Given the description of an element on the screen output the (x, y) to click on. 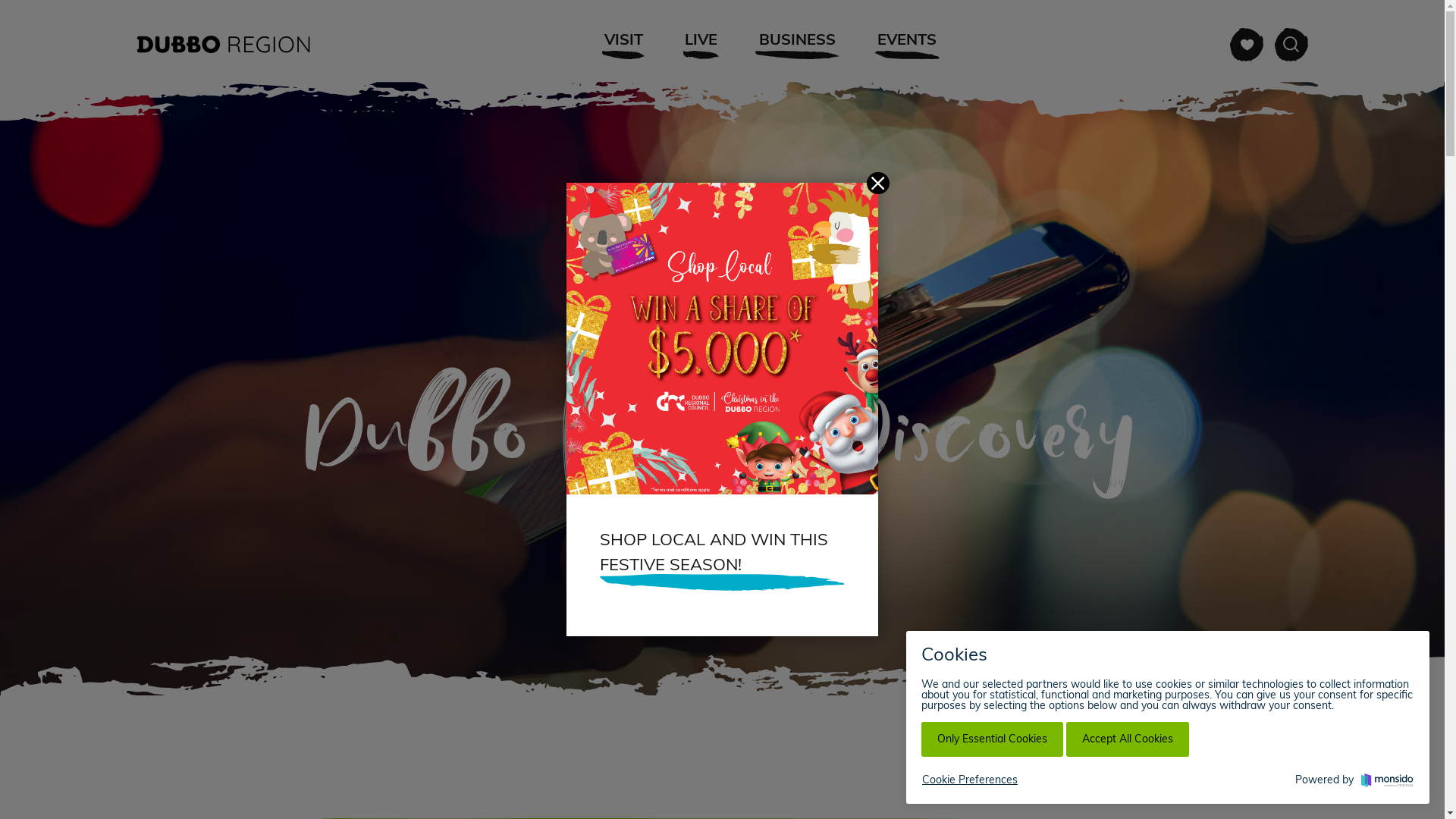
SHOP LOCAL AND WIN THIS FESTIVE SEASON! Element type: text (721, 564)
LIVE Element type: text (700, 44)
BUSINESS Element type: text (797, 44)
Home Element type: text (1289, 741)
VISIT Element type: text (623, 44)
EVENTS Element type: text (906, 44)
